Given the description of an element on the screen output the (x, y) to click on. 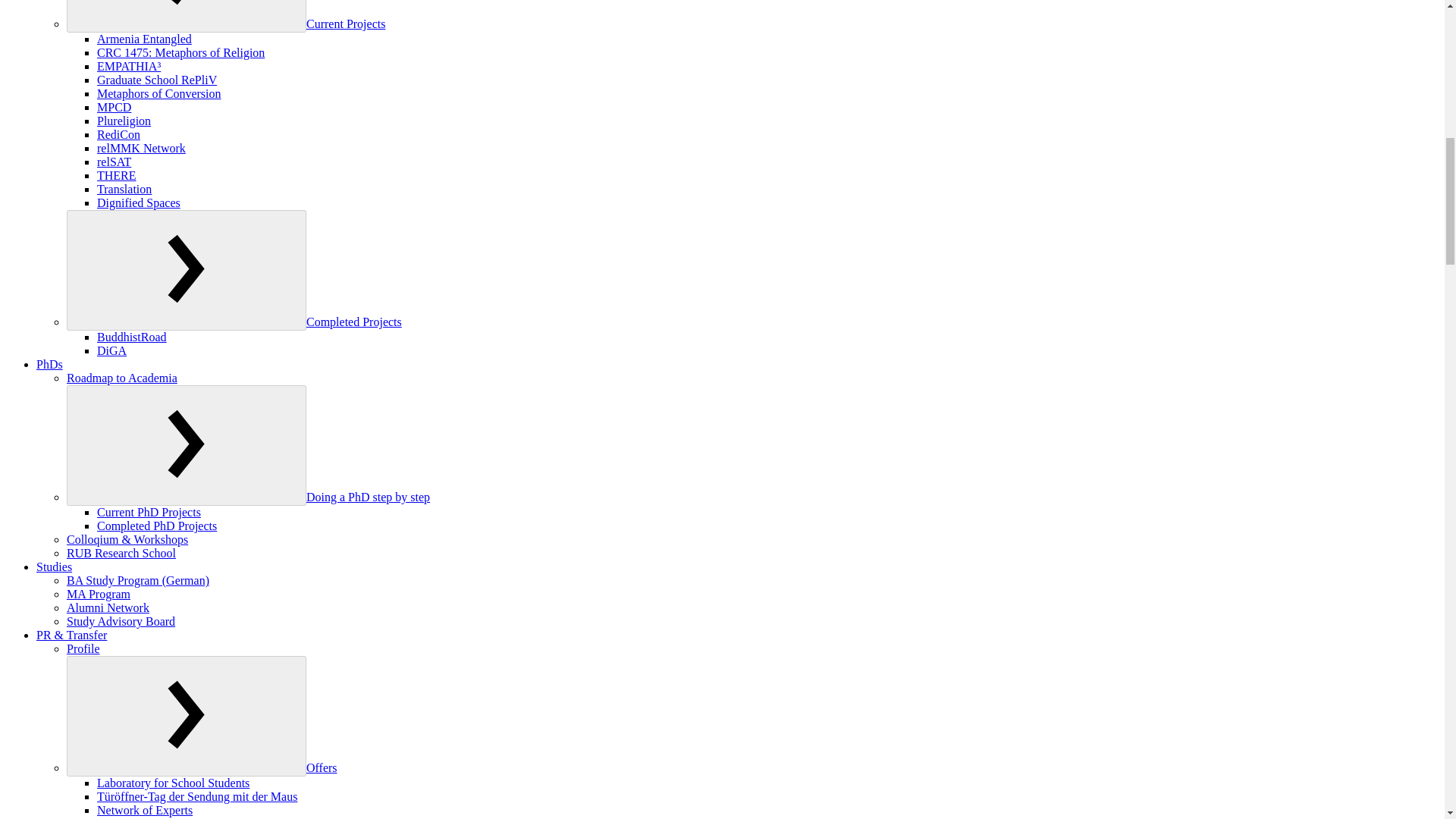
Plureligion (124, 120)
RediCon (118, 133)
Armenia Entangled (144, 38)
Current Projects (345, 23)
Graduate School RePliV (156, 79)
Metaphors of Conversion (159, 92)
MPCD (114, 106)
CRC 1475: Metaphors of Religion (180, 51)
